Given the description of an element on the screen output the (x, y) to click on. 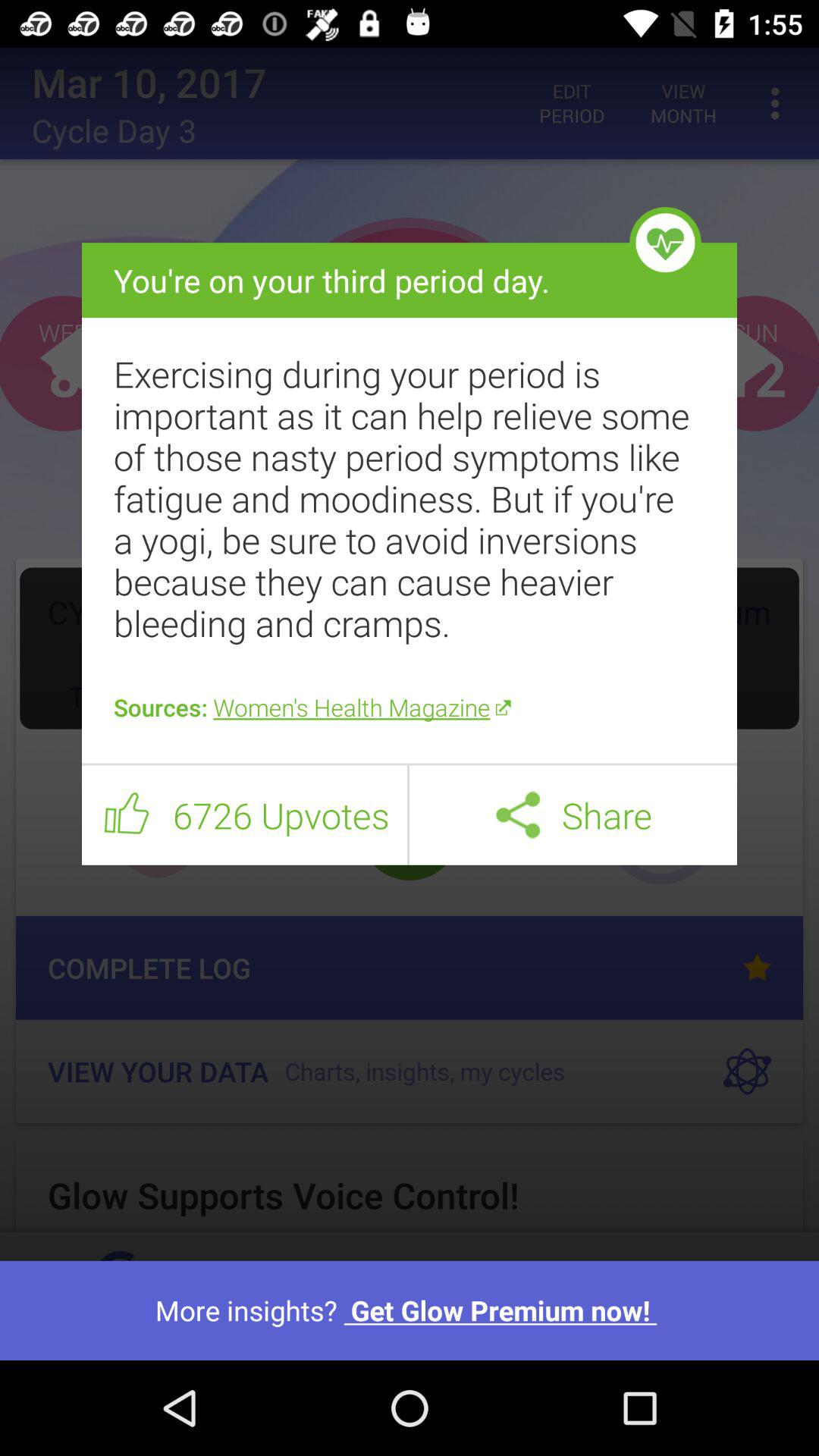
flip until more insights get item (409, 1310)
